Given the description of an element on the screen output the (x, y) to click on. 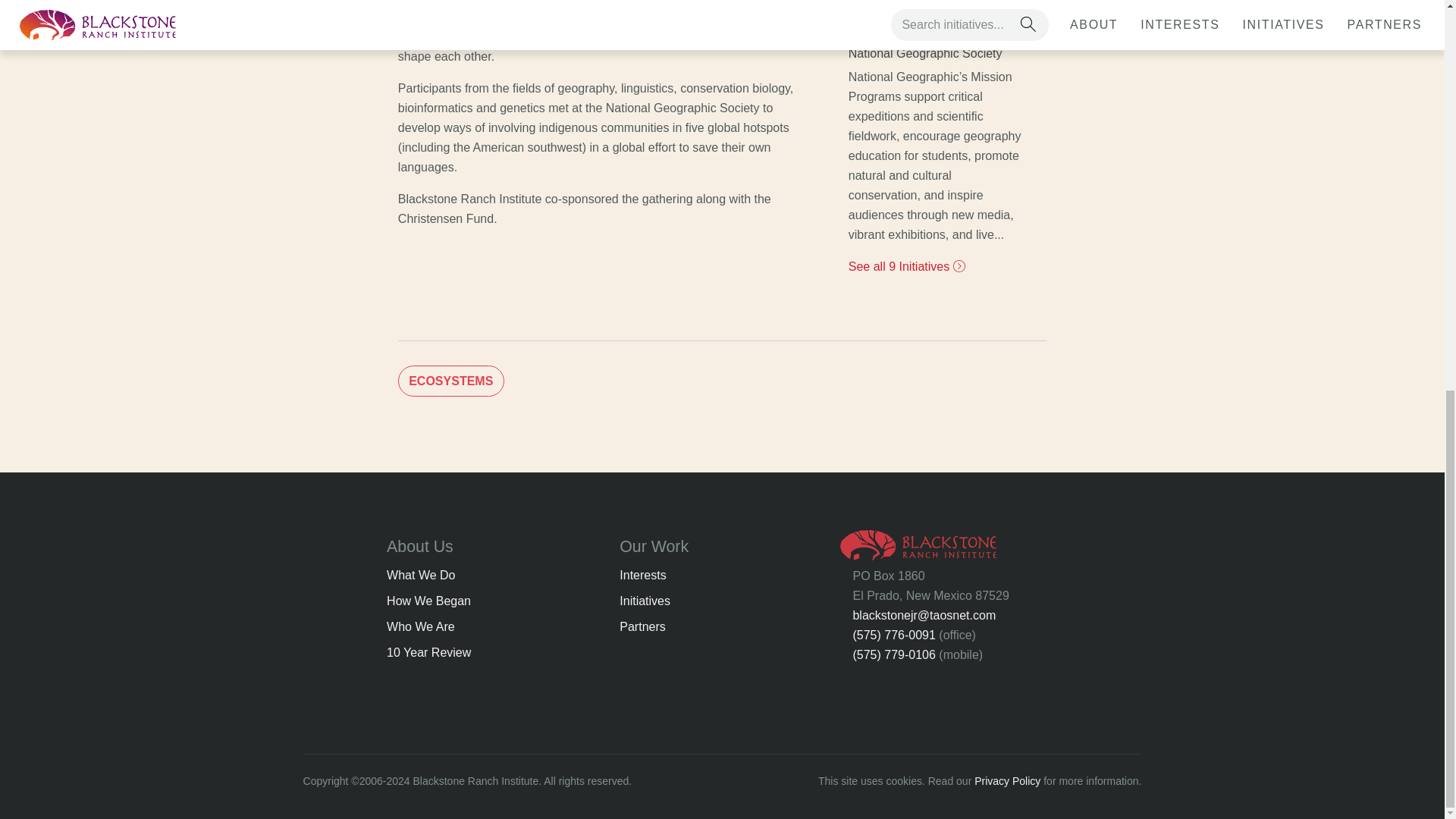
10 Year Review (428, 652)
See all 9 Initiatives (906, 266)
Privacy Policy (1007, 780)
Who We Are (420, 626)
Interests (642, 574)
What We Do (420, 574)
Partners (642, 626)
Initiatives (644, 600)
ECOSYSTEMS (450, 381)
How We Began (428, 600)
